Given the description of an element on the screen output the (x, y) to click on. 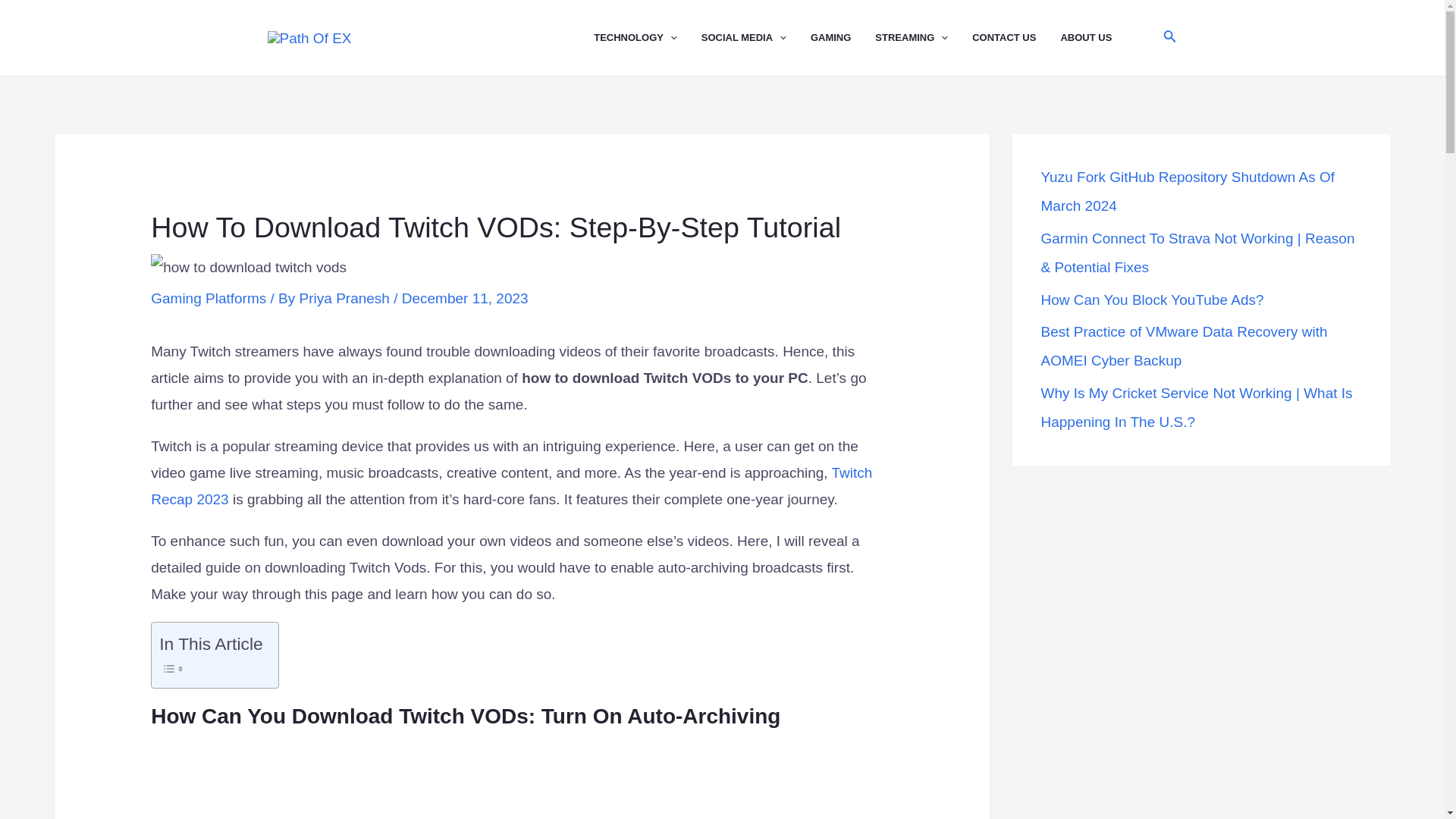
SOCIAL MEDIA (755, 38)
ABOUT US (1097, 38)
TECHNOLOGY (647, 38)
View all posts by Priya Pranesh (346, 298)
CONTACT US (1015, 38)
STREAMING (923, 38)
